Given the description of an element on the screen output the (x, y) to click on. 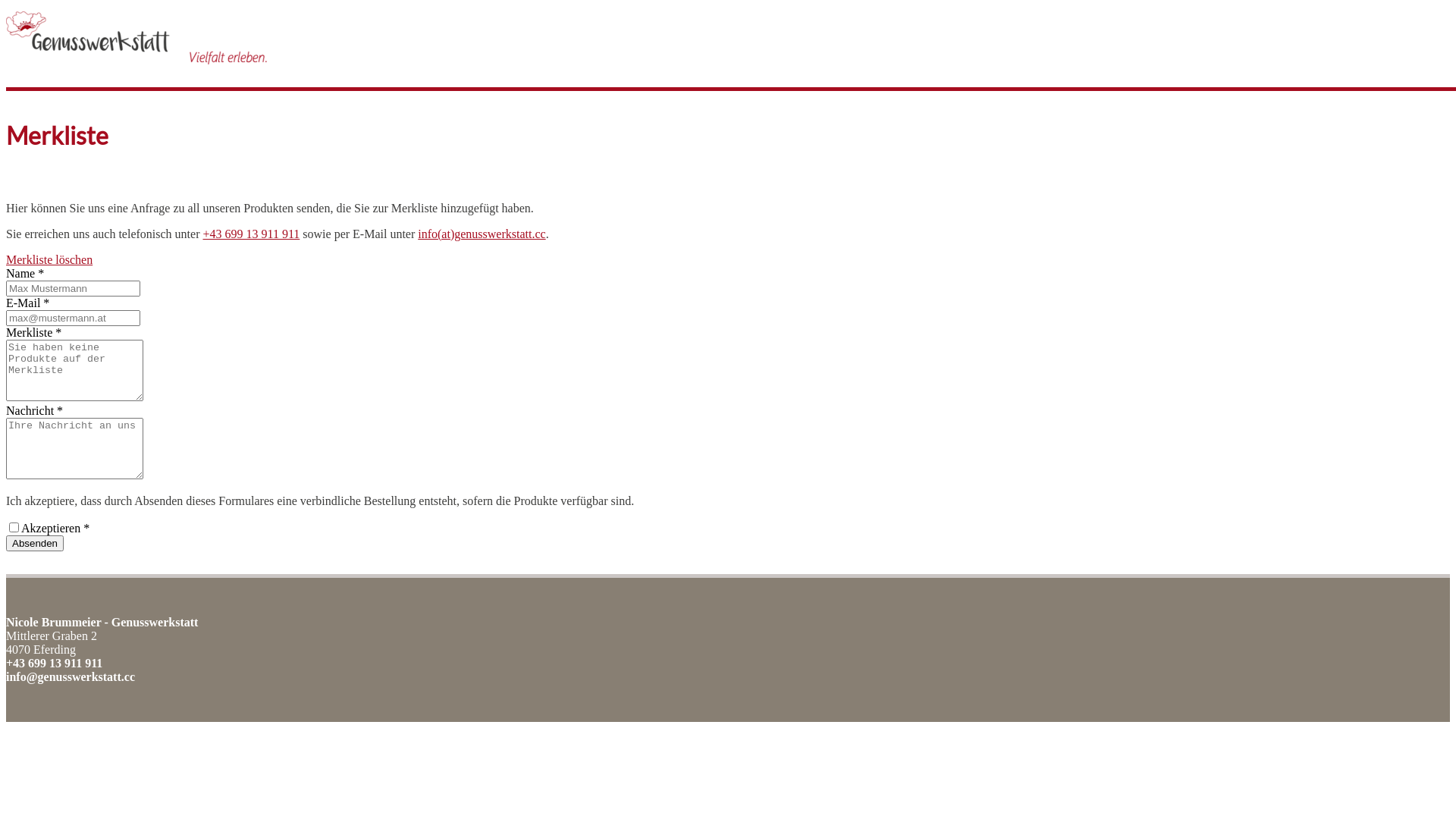
info@genusswerkstatt.cc Element type: text (70, 676)
info(at)genusswerkstatt.cc Element type: text (481, 233)
Genusswerkstatt Element type: hover (136, 37)
+43 699 13 911 911 Element type: text (250, 233)
+43 699 13 911 911 Element type: text (54, 662)
Absenden Element type: text (34, 543)
